Given the description of an element on the screen output the (x, y) to click on. 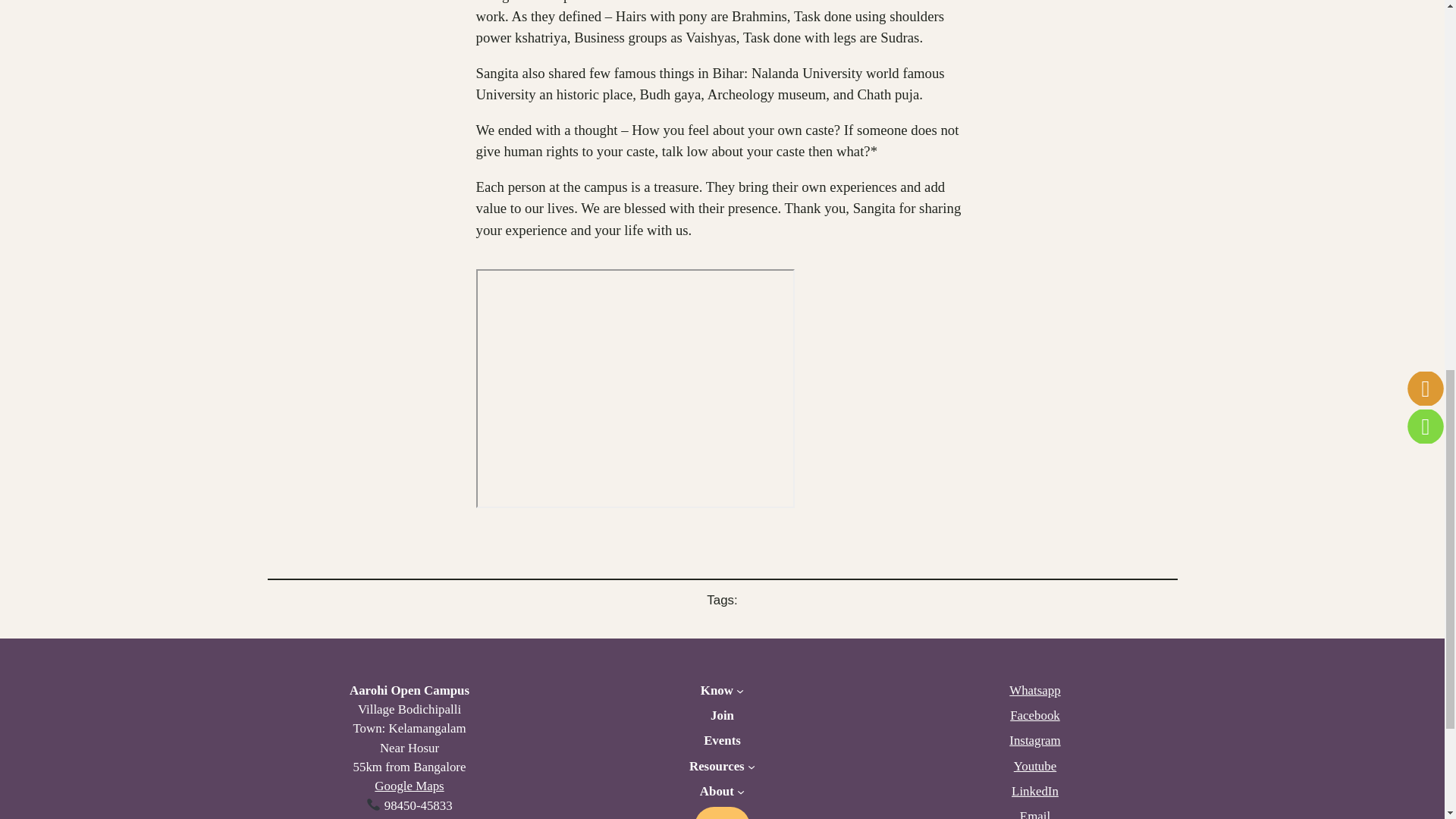
Events (722, 740)
Join (721, 714)
Know (716, 690)
Resources (716, 765)
Google Maps (409, 785)
